Given the description of an element on the screen output the (x, y) to click on. 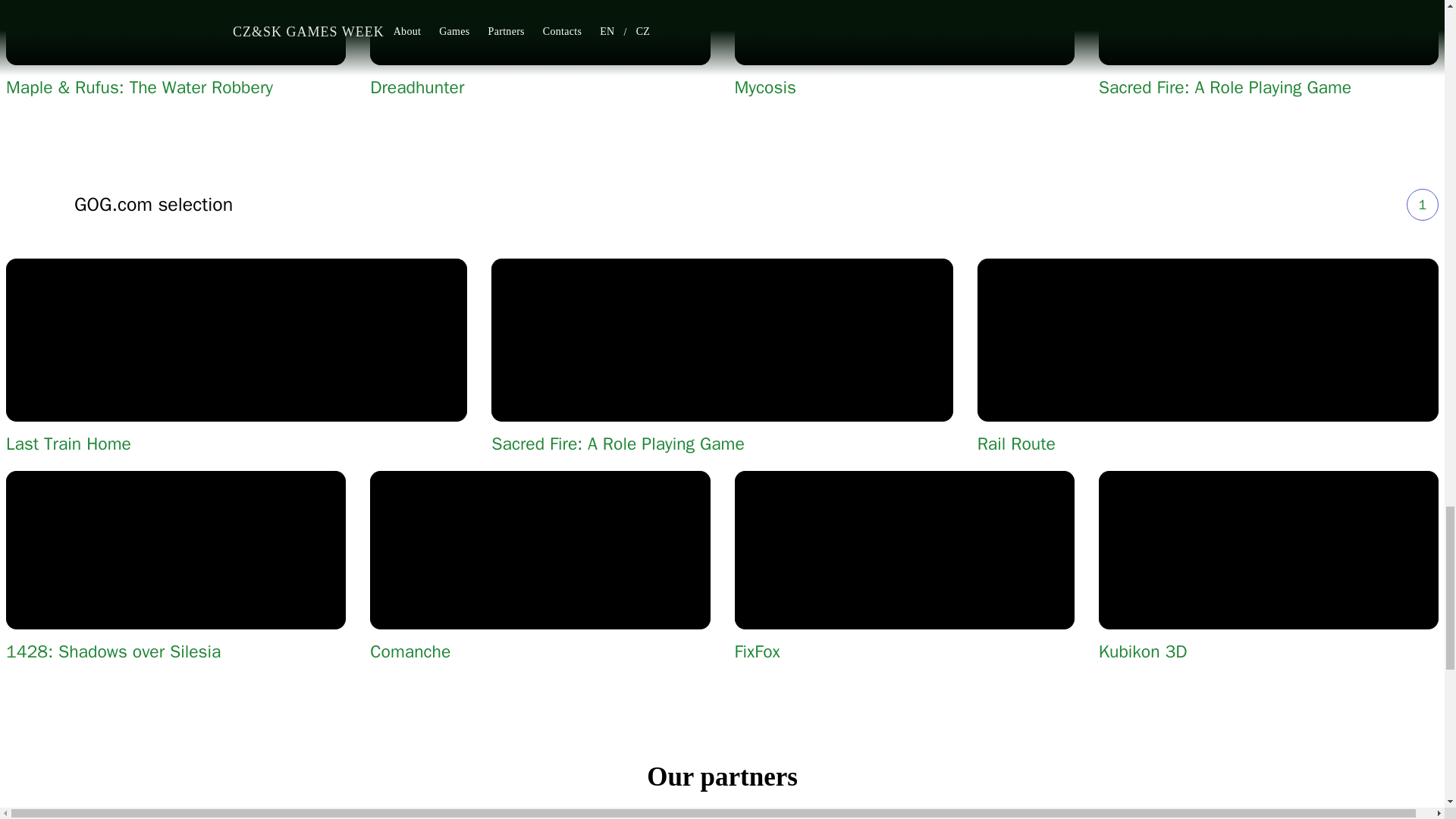
Last Train Home (236, 443)
Mycosis (903, 87)
Dreadhunter (539, 87)
1 (1422, 204)
Sacred Fire: A Role Playing Game (1268, 87)
Rail Route (1207, 443)
Sacred Fire: A Role Playing Game (722, 443)
1428: Shadows over Silesia (175, 651)
